Given the description of an element on the screen output the (x, y) to click on. 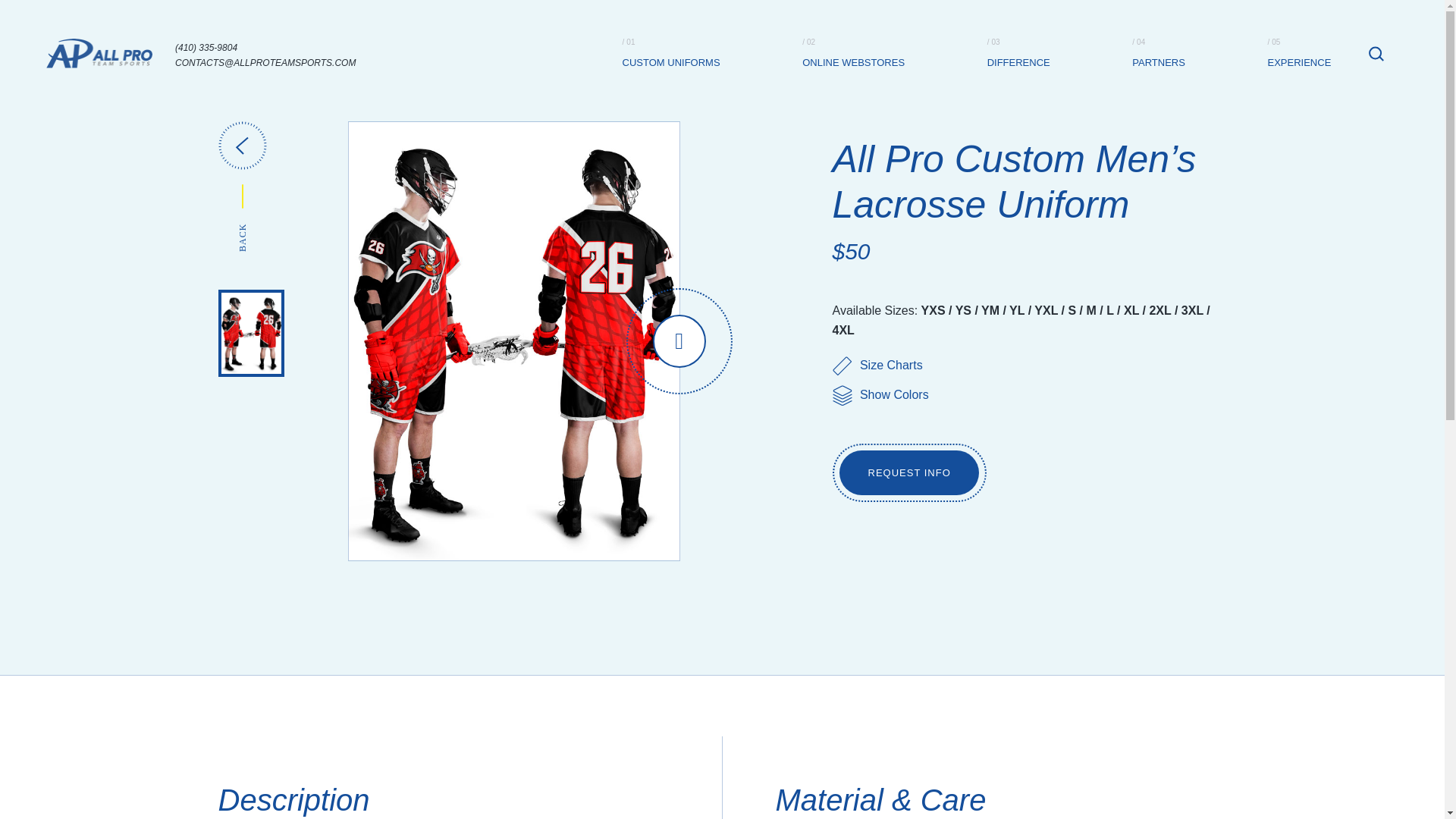
EXPERIENCE (1300, 61)
PARTNERS (1158, 61)
ONLINE WEBSTORES (853, 61)
DIFFERENCE (1018, 61)
BACK (242, 186)
CUSTOM UNIFORMS (671, 61)
